Given the description of an element on the screen output the (x, y) to click on. 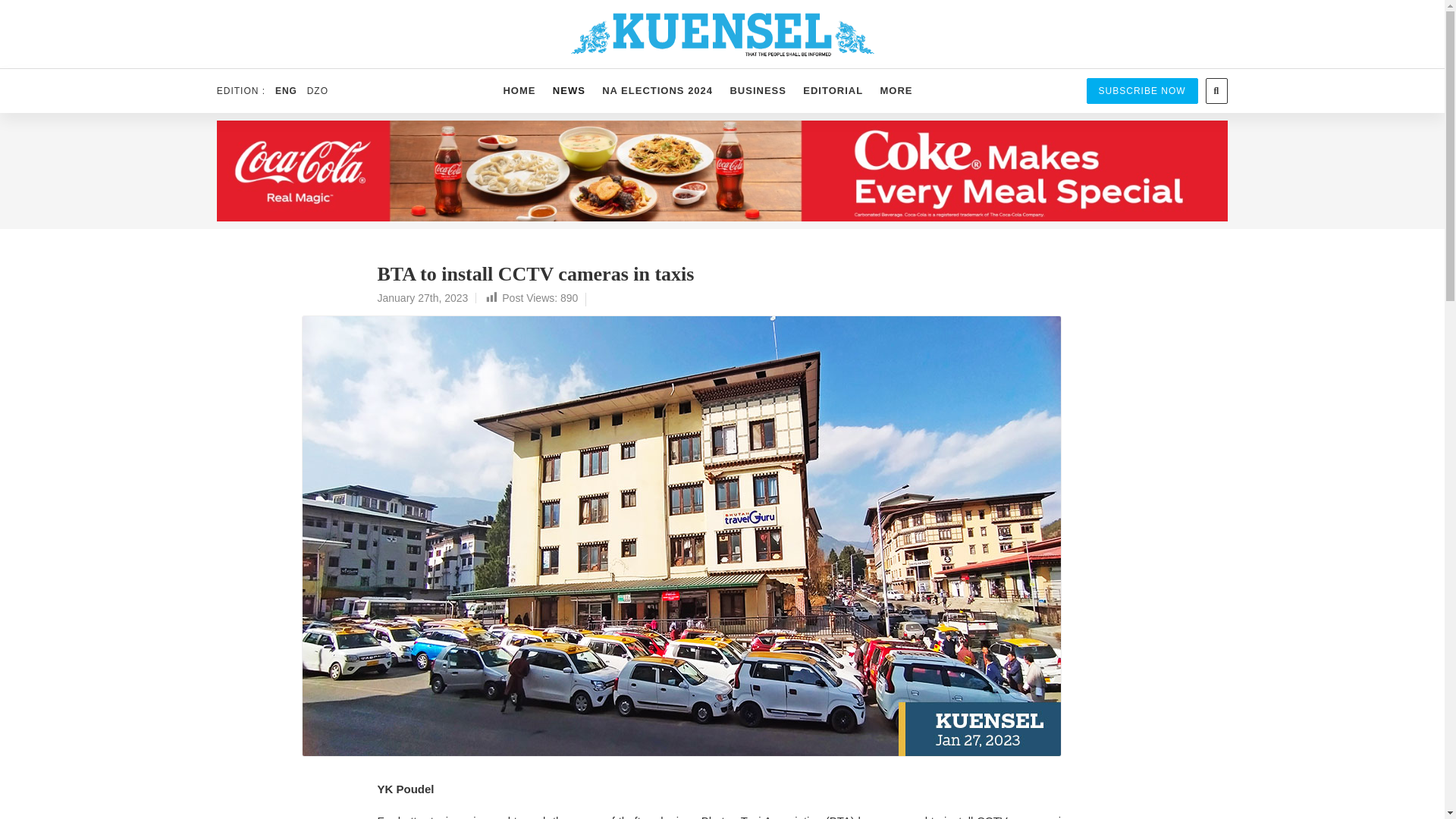
DZO (317, 91)
MORE (895, 91)
HOME (519, 91)
EDITORIAL (832, 91)
NA ELECTIONS 2024 (657, 91)
EDITION : (243, 91)
SUBSCRIBE NOW (1142, 90)
ENG (285, 91)
NEWS (569, 91)
BUSINESS (757, 91)
